Given the description of an element on the screen output the (x, y) to click on. 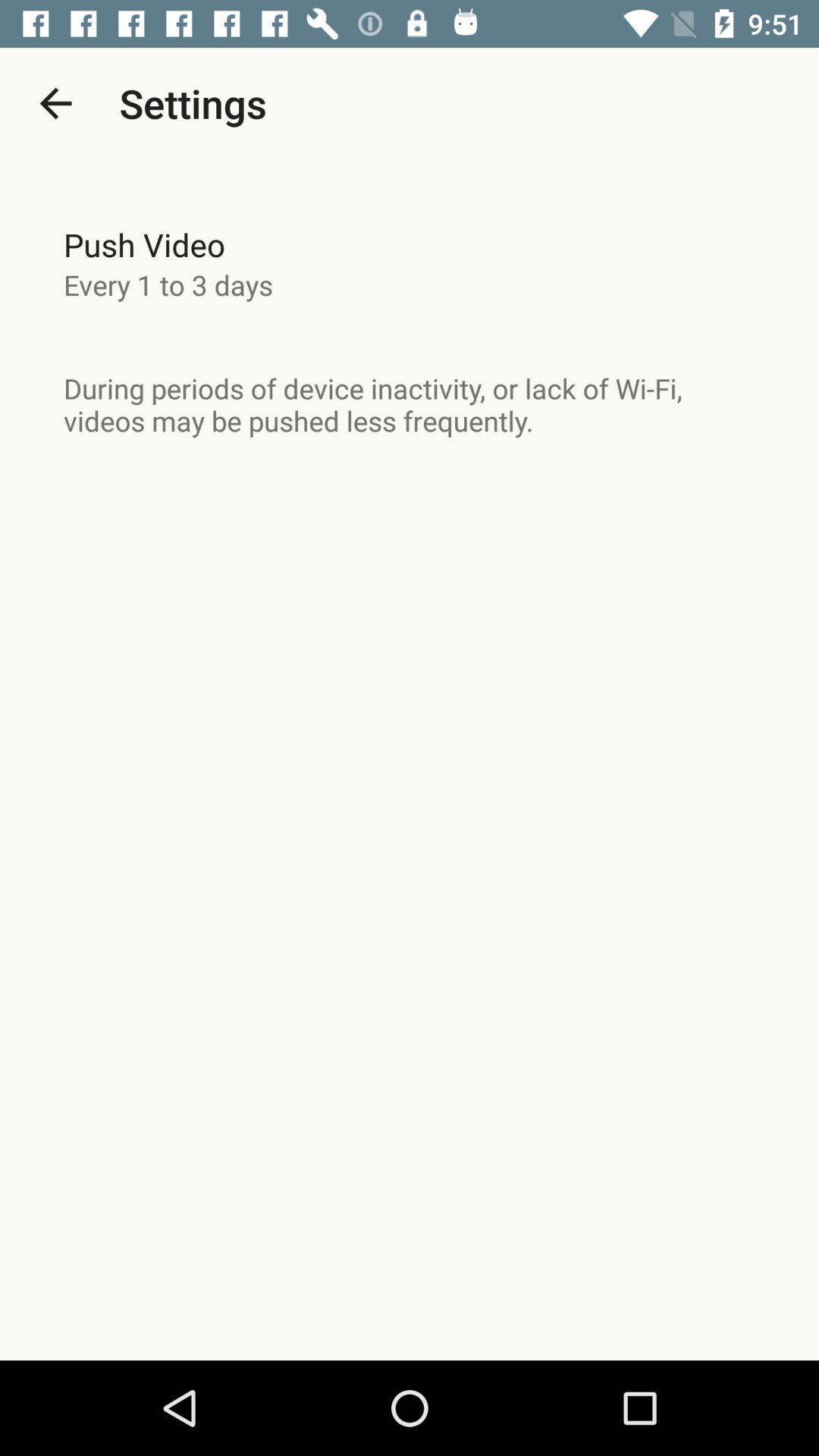
tap push video (144, 244)
